Given the description of an element on the screen output the (x, y) to click on. 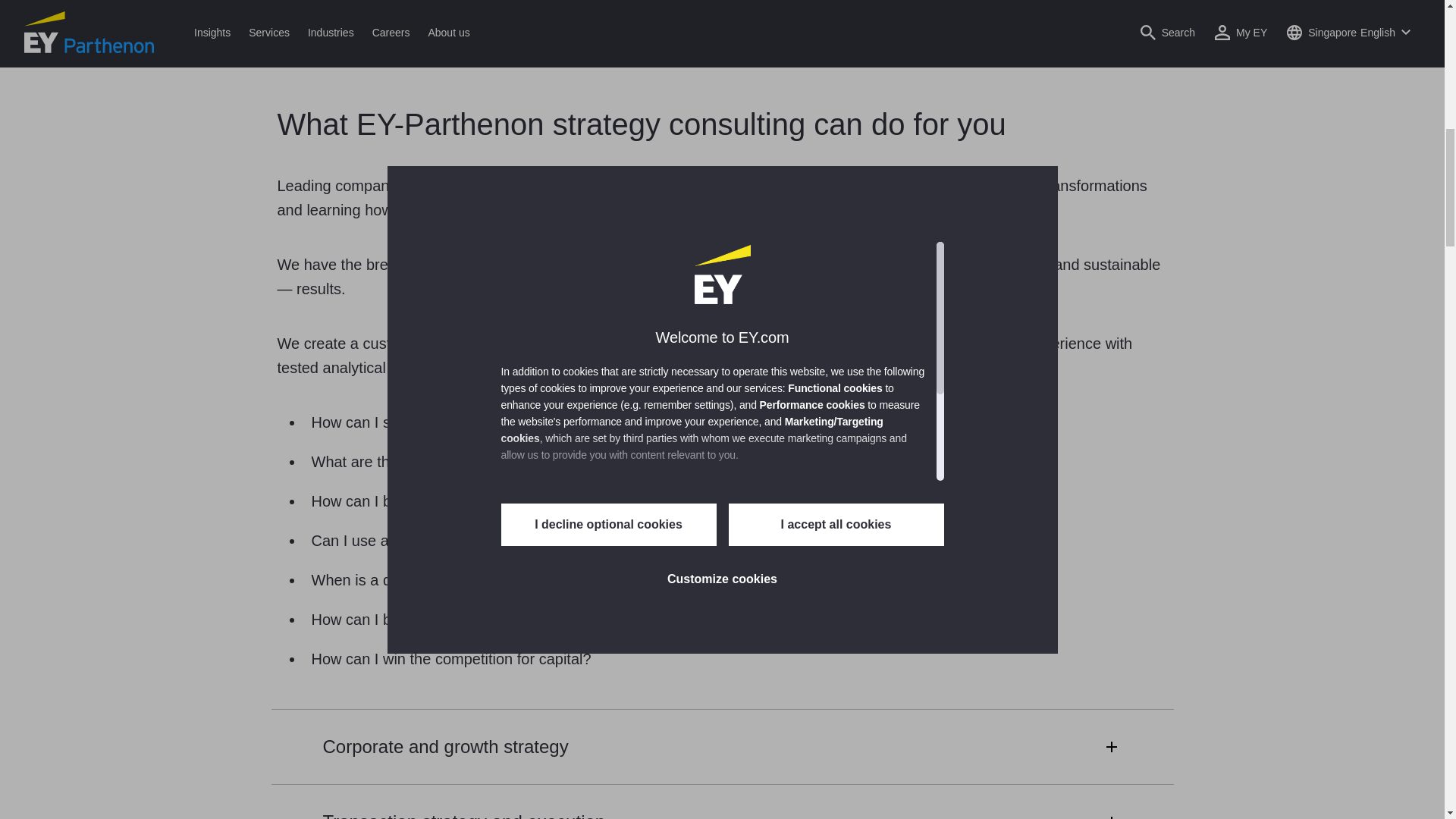
Corporate and growth strategy (721, 746)
Transaction strategy and execution (721, 801)
